Given the description of an element on the screen output the (x, y) to click on. 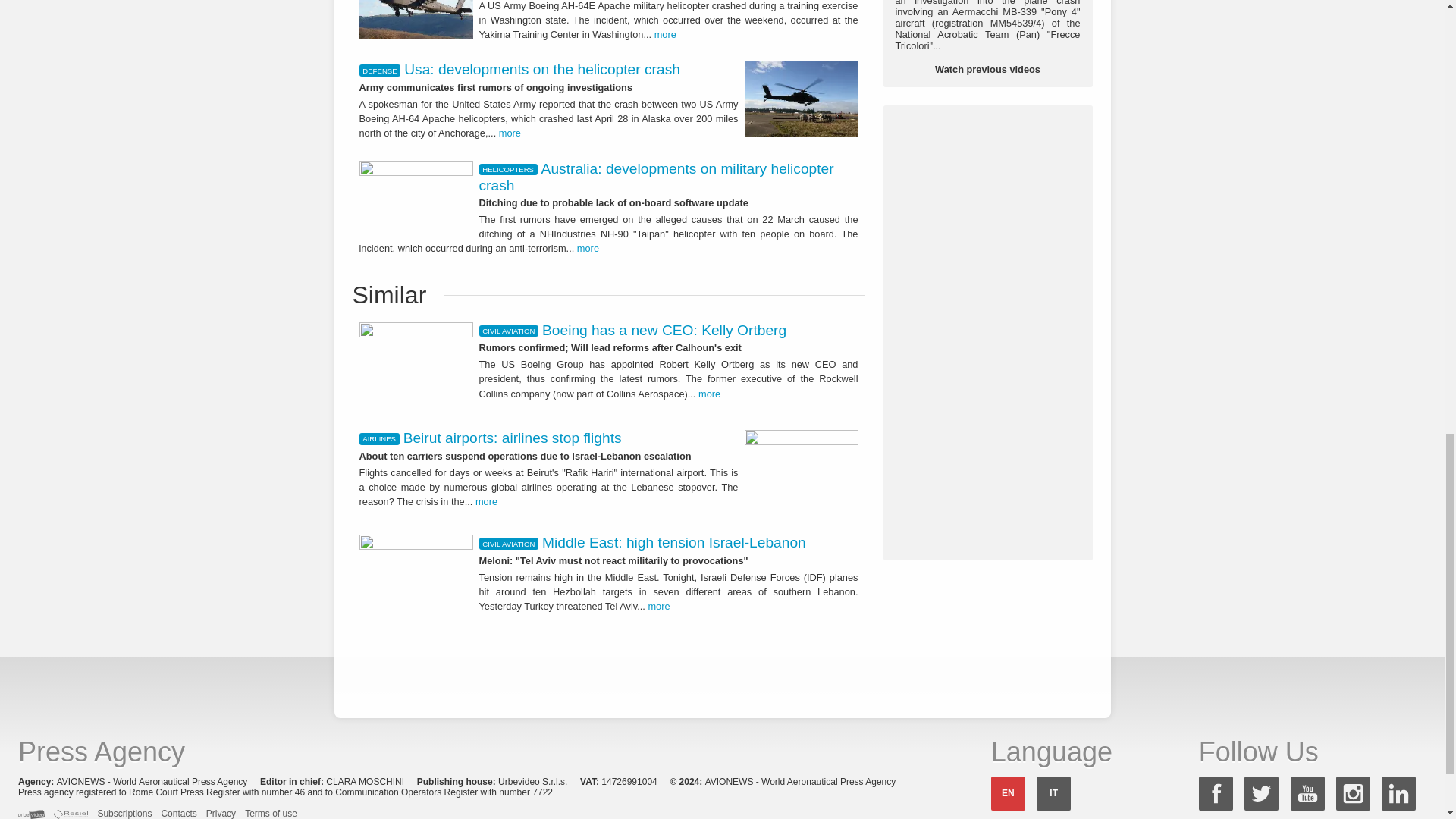
A Boeing AH-64E Apache Guardian helicopter (801, 99)
Robert Kelly Ortber, chief executive officer of Boeing Group (416, 366)
NH Industries NH-90 helicopter (416, 192)
English (1008, 793)
Italian Prime Minister Giorgia Meloni (416, 574)
Boeing AH-64 Apache MK1 helicopter (416, 19)
Beirut International Airport (801, 472)
Italiano (1053, 793)
